Given the description of an element on the screen output the (x, y) to click on. 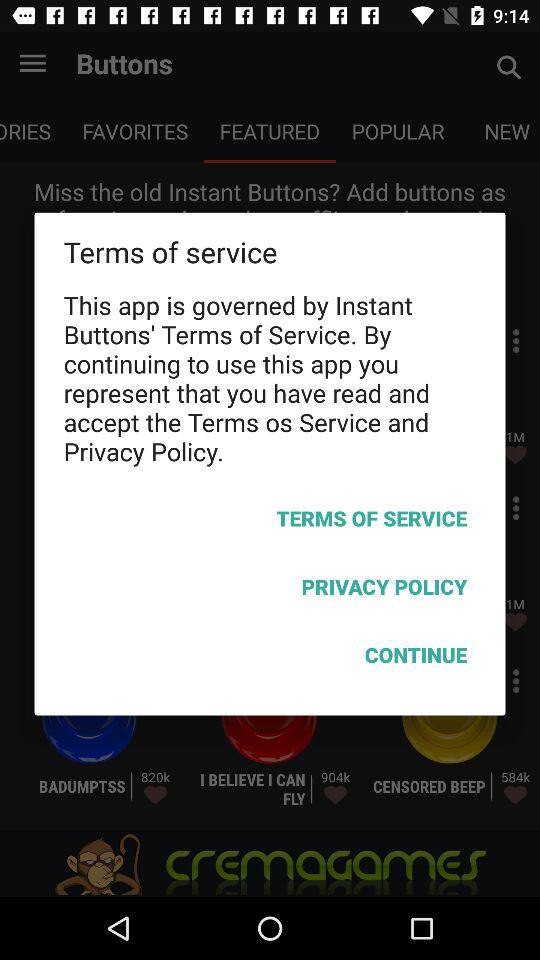
launch the privacy policy icon (269, 590)
